Given the description of an element on the screen output the (x, y) to click on. 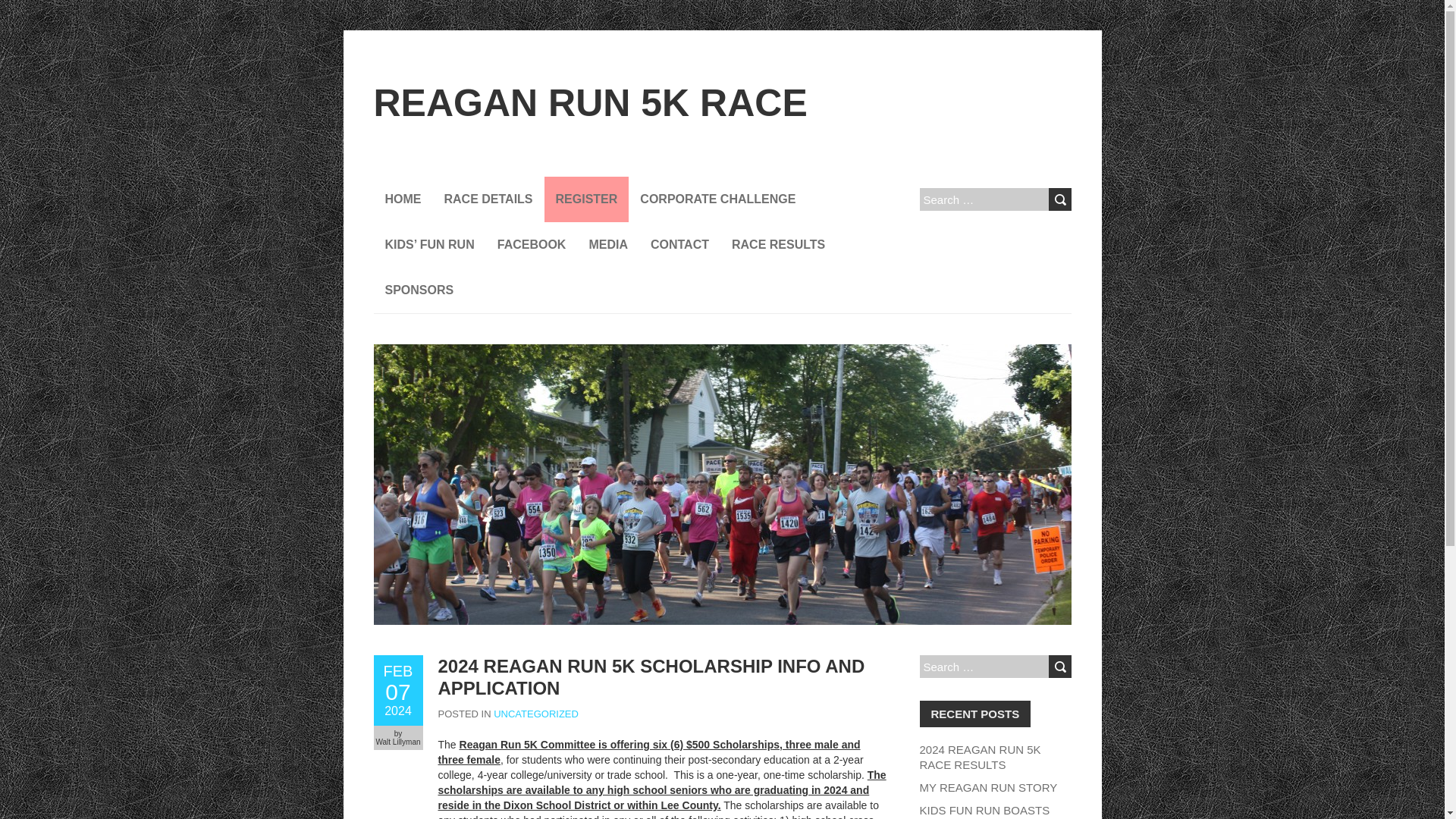
2024 Reagan Run 5K Scholarship info and application (651, 677)
Search (1059, 199)
CONTACT (679, 244)
Search (1059, 199)
REGISTER (586, 198)
2024 Reagan Run 5K Scholarship info and application (397, 690)
REAGAN RUN 5K RACE (589, 102)
CORPORATE CHALLENGE (717, 198)
FACEBOOK (532, 244)
RACE RESULTS (777, 244)
Search (1059, 666)
Reagan Run 5K Race (589, 102)
Search (397, 690)
RACE DETAILS (1059, 199)
